Given the description of an element on the screen output the (x, y) to click on. 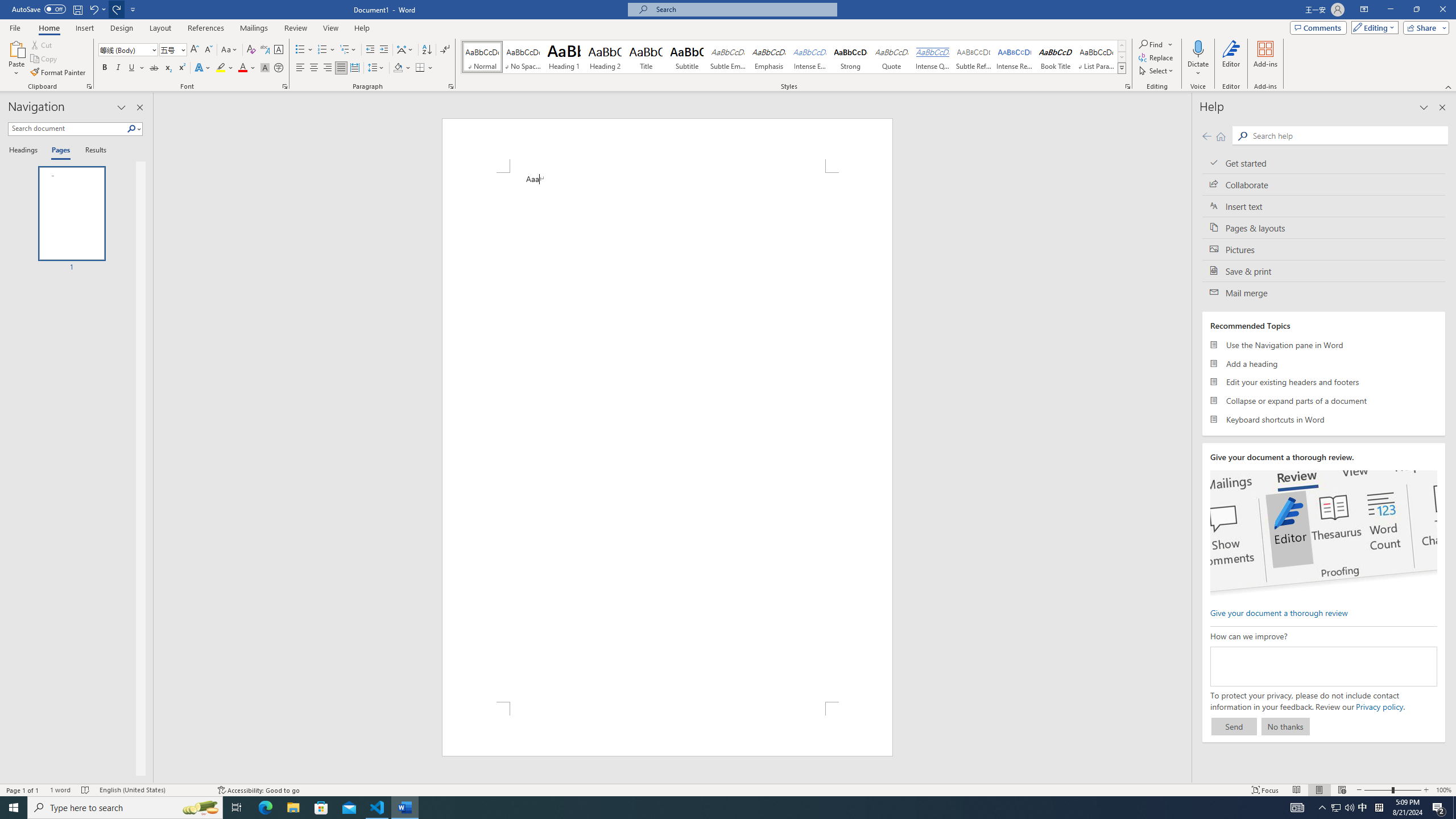
Decrease Indent (370, 49)
Accessibility Checker Accessibility: Good to go (258, 790)
Office Clipboard... (88, 85)
Subtle Reference (973, 56)
Row up (1121, 45)
Get started (1323, 162)
Text Highlight Color Yellow (220, 67)
Edit your existing headers and footers (1323, 381)
Emphasis (768, 56)
